Given the description of an element on the screen output the (x, y) to click on. 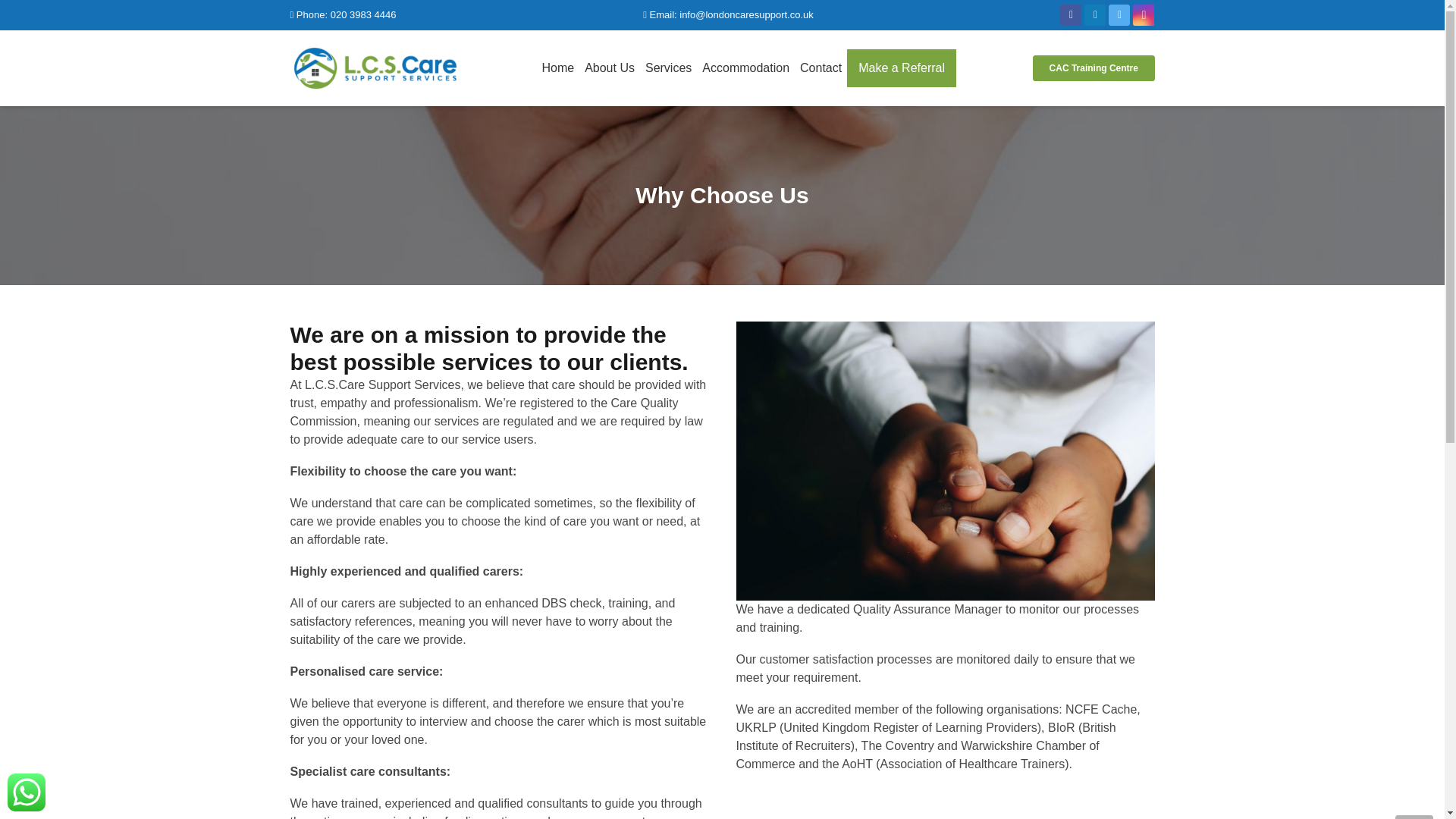
Instagram (1143, 14)
LinkedIn (1094, 14)
Facebook (1070, 14)
Back to top (1413, 816)
020 3983 4446 (363, 14)
Make a Referral (901, 67)
WhatsApp us (26, 792)
About Us (609, 67)
CAC Training Centre (1093, 68)
Home (557, 67)
